Given the description of an element on the screen output the (x, y) to click on. 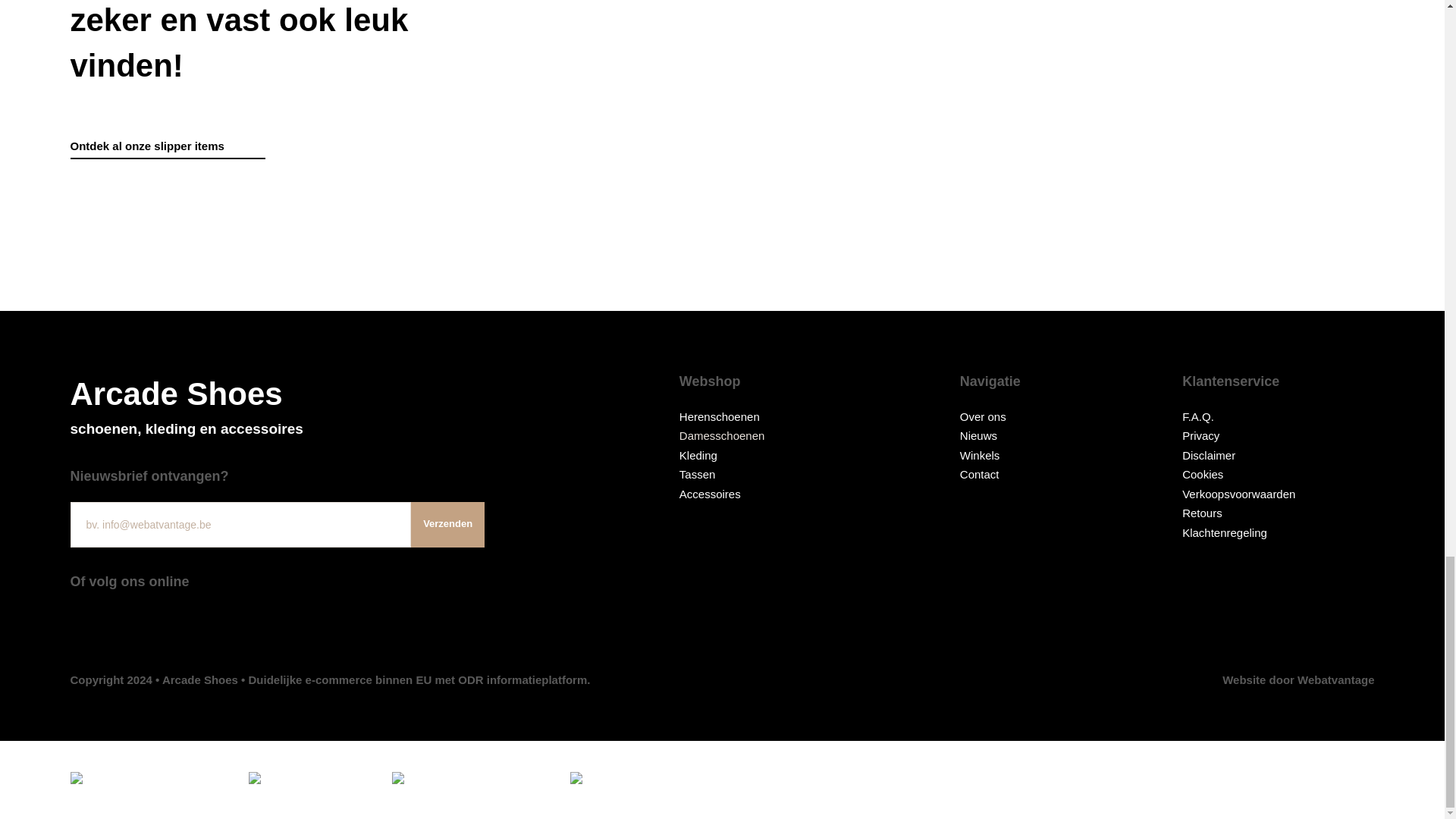
Betalingsmethode Bancontact (150, 779)
Betalingsmethode Visa (312, 779)
Damesschoenen (722, 435)
Herenschoenen (719, 416)
Betalingsmethode Maestro (643, 779)
Verzenden (447, 524)
Ontdek al onze slipper items (166, 146)
Webatvantage (1298, 679)
Betalingsmethode Mastercard (276, 405)
